Given the description of an element on the screen output the (x, y) to click on. 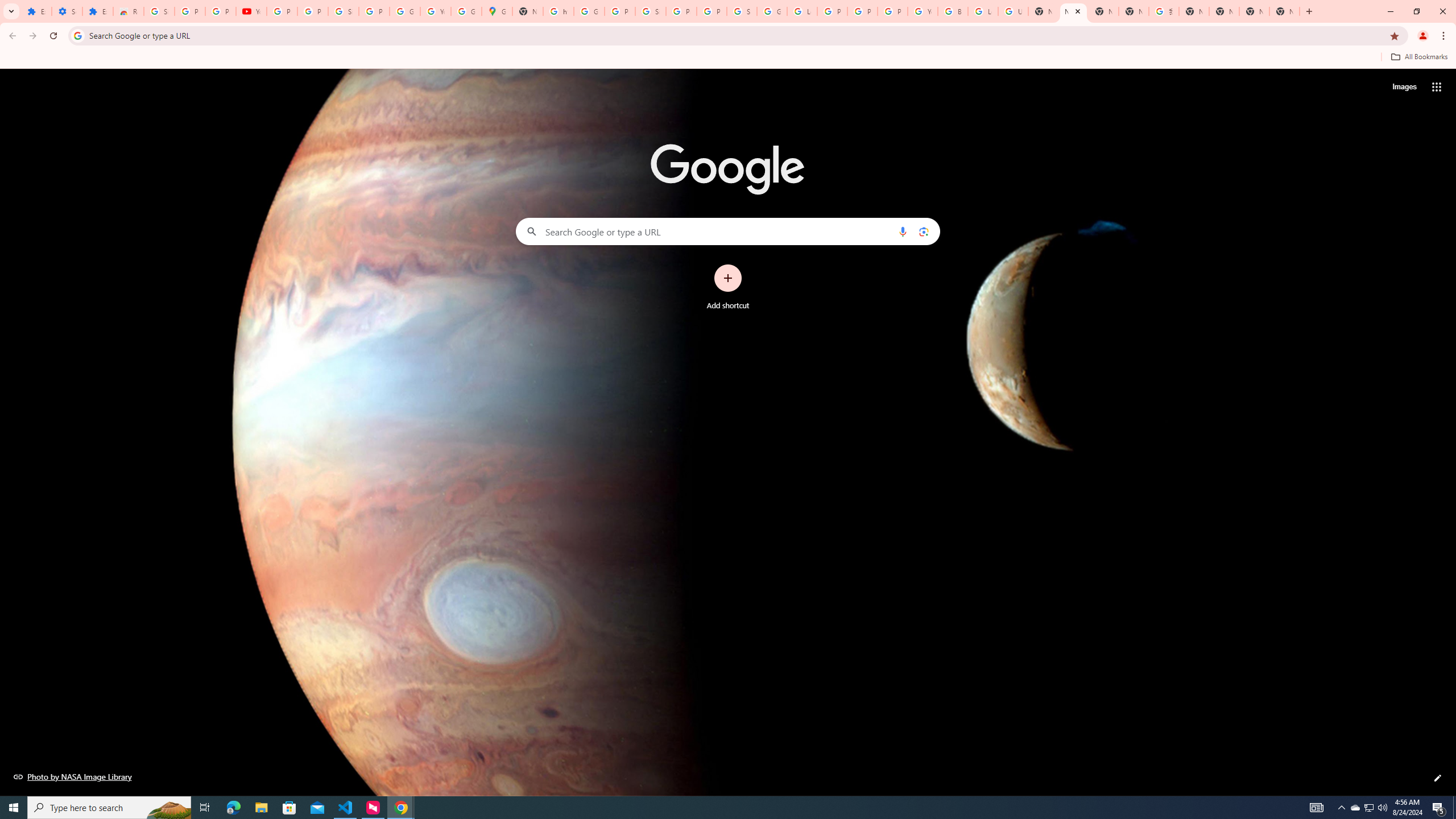
Privacy Help Center - Policies Help (832, 11)
Sign in - Google Accounts (650, 11)
Bookmark this tab (1393, 35)
New Tab (1283, 11)
Reload (52, 35)
Address and search bar (735, 35)
All Bookmarks (1418, 56)
Extensions (36, 11)
Restore (1416, 11)
Search for Images  (1403, 87)
Customize this page (1437, 778)
